Given the description of an element on the screen output the (x, y) to click on. 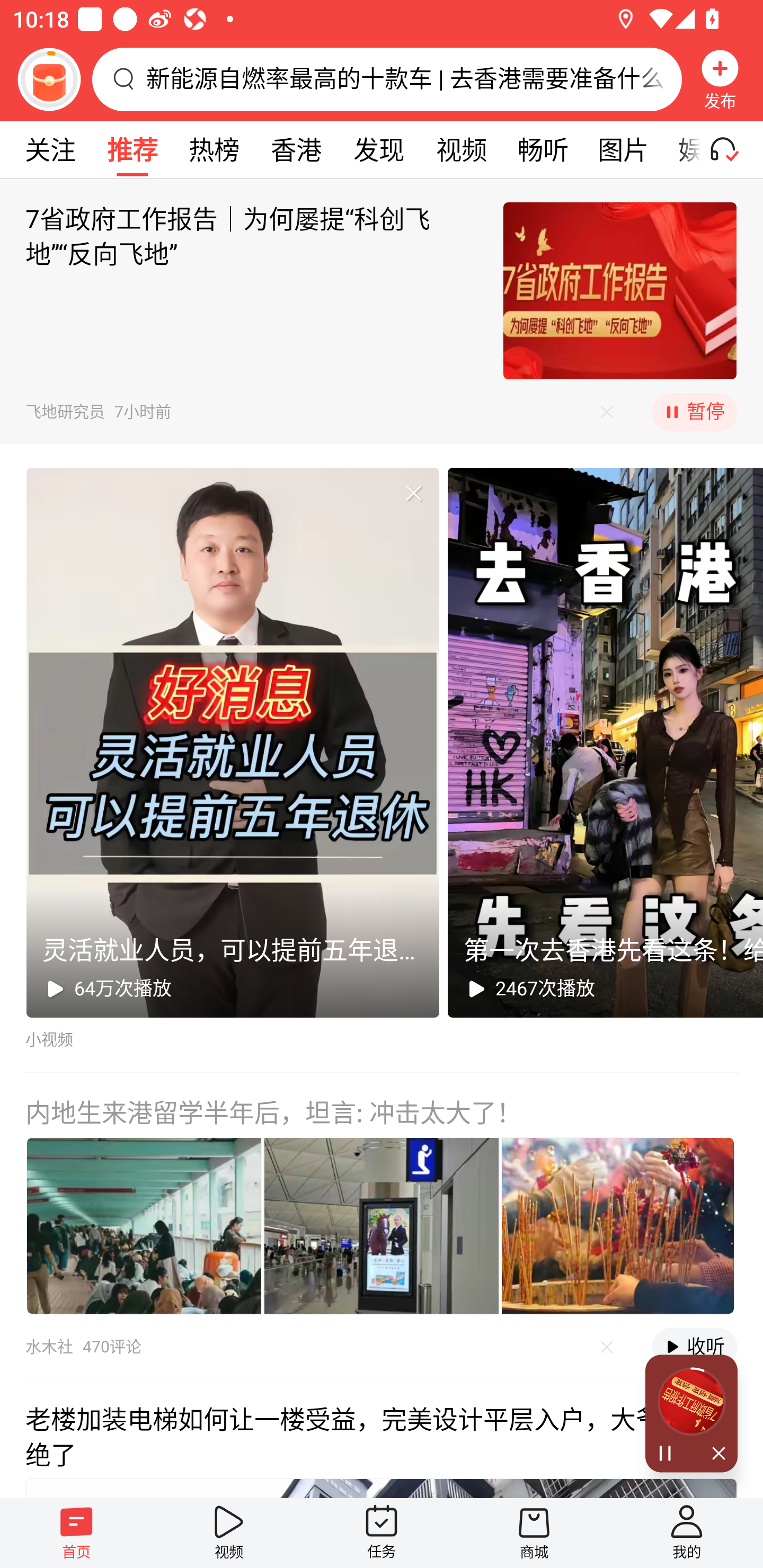
阅读赚金币 (48, 79)
发布 发布，按钮 (720, 78)
关注 (50, 149)
推荐 (132, 149)
热榜 (213, 149)
香港 (295, 149)
发现 (378, 149)
视频 (461, 149)
畅听 (542, 149)
图片 (623, 149)
听一听开关 (732, 149)
暂停 (694, 412)
不感兴趣 (607, 412)
不感兴趣 (413, 492)
内容图片 (143, 1225)
内容图片 (381, 1225)
内容图片 (617, 1225)
收听 (694, 1346)
不感兴趣 (607, 1346)
当前进度 6% 暂停 关闭 (691, 1413)
老楼加装电梯如何让一楼受益，完美设计平层入户，大爷的方案绝了 视频播放器，双击屏幕打开播放控制 (381, 1438)
暂停 (668, 1454)
关闭 (714, 1454)
首页 (76, 1532)
视频 (228, 1532)
任务 (381, 1532)
商城 (533, 1532)
我的 (686, 1532)
